Given the description of an element on the screen output the (x, y) to click on. 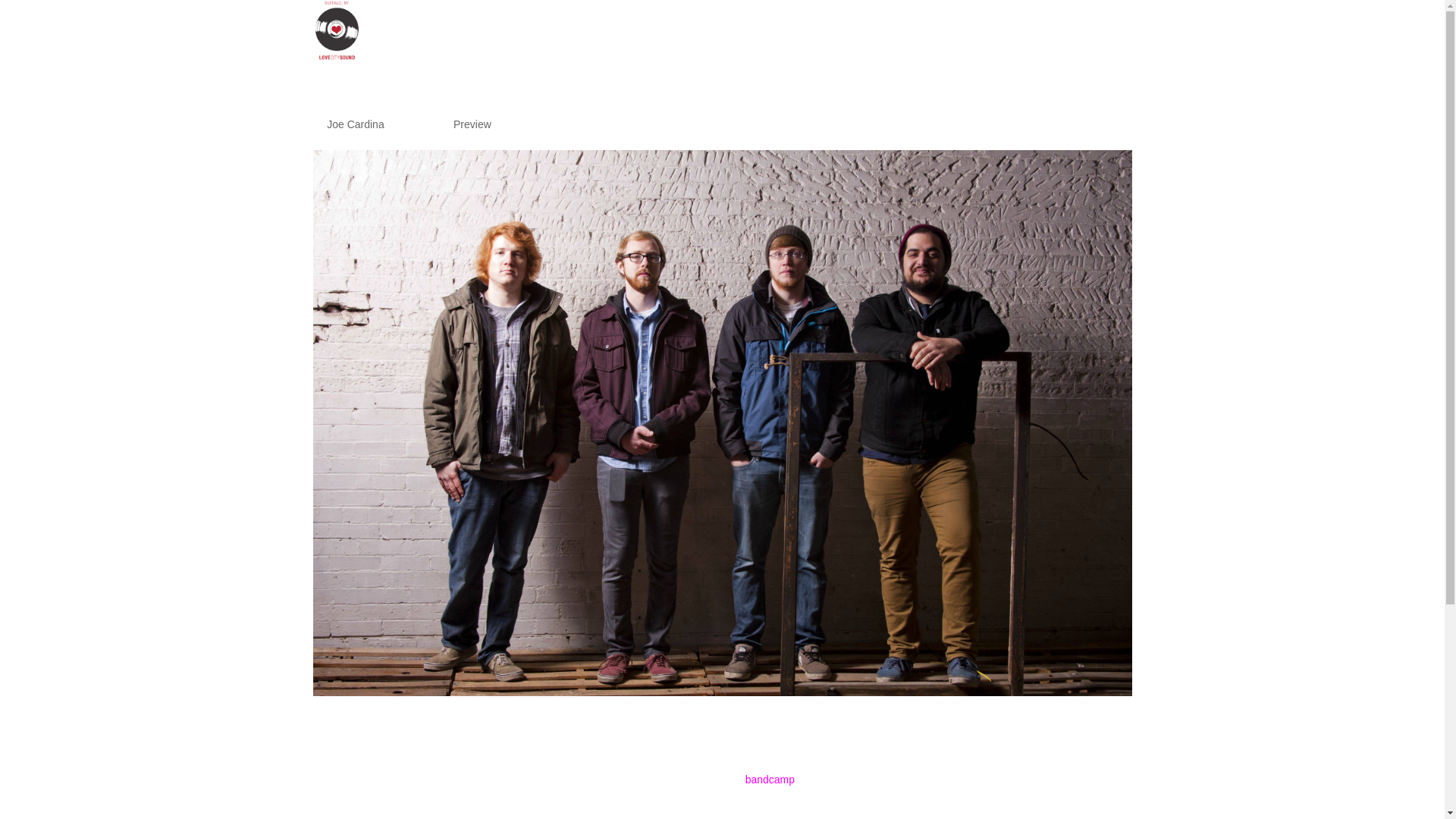
bandcamp (769, 779)
Calendar (1079, 42)
New Music (1000, 42)
About Us (922, 42)
Posts by Joe Cardina (355, 123)
Joe Cardina (355, 123)
Preview (472, 123)
